Given the description of an element on the screen output the (x, y) to click on. 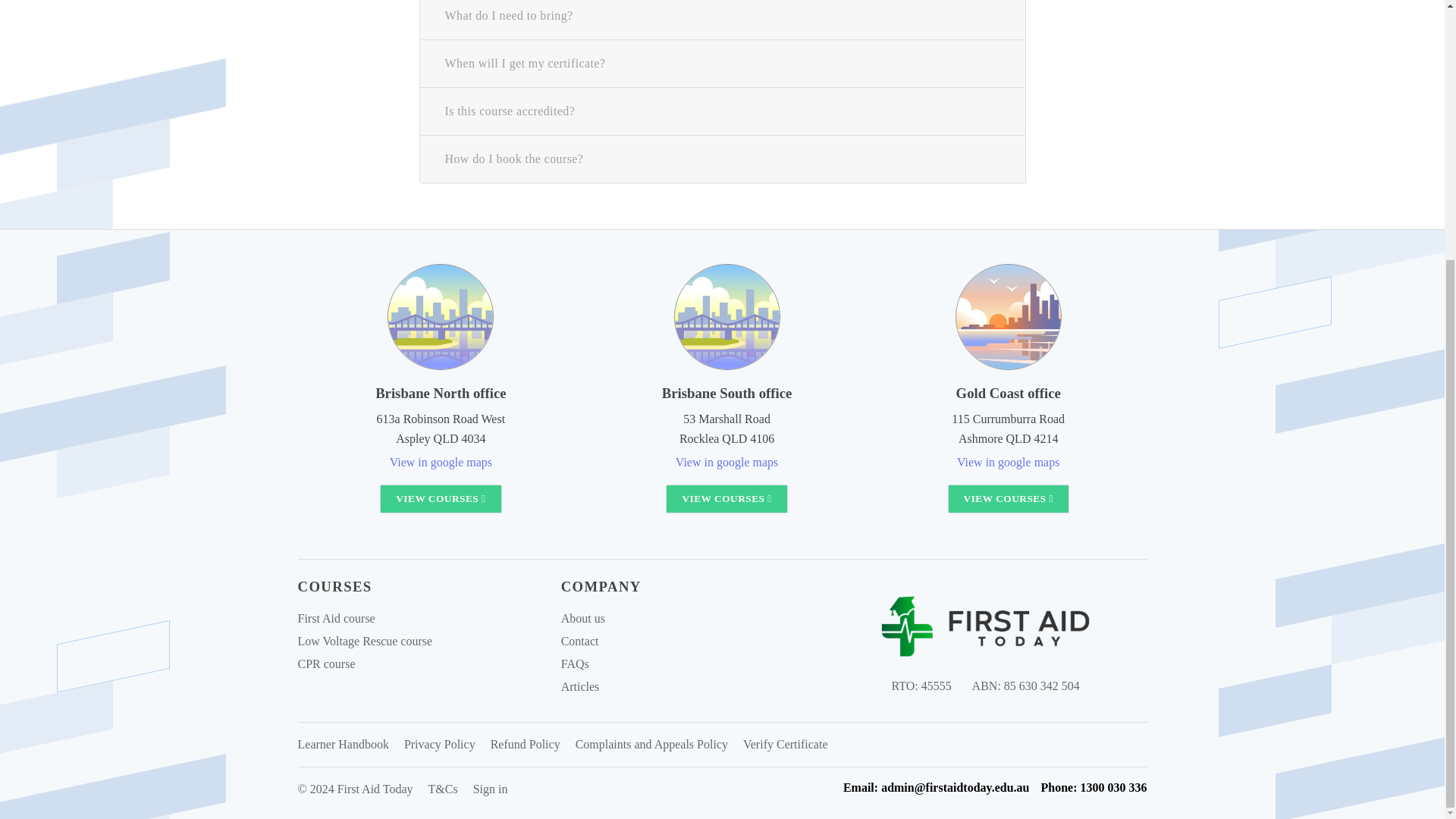
CPR course (326, 663)
VIEW COURSES (1007, 498)
VIEW COURSES (440, 498)
How do I book the course? (722, 158)
First Aid course (335, 617)
Is this course accredited? (722, 111)
View in google maps (726, 461)
View in google maps (1007, 461)
When will I get my certificate? (722, 63)
Low Voltage Rescue course (364, 640)
